Given the description of an element on the screen output the (x, y) to click on. 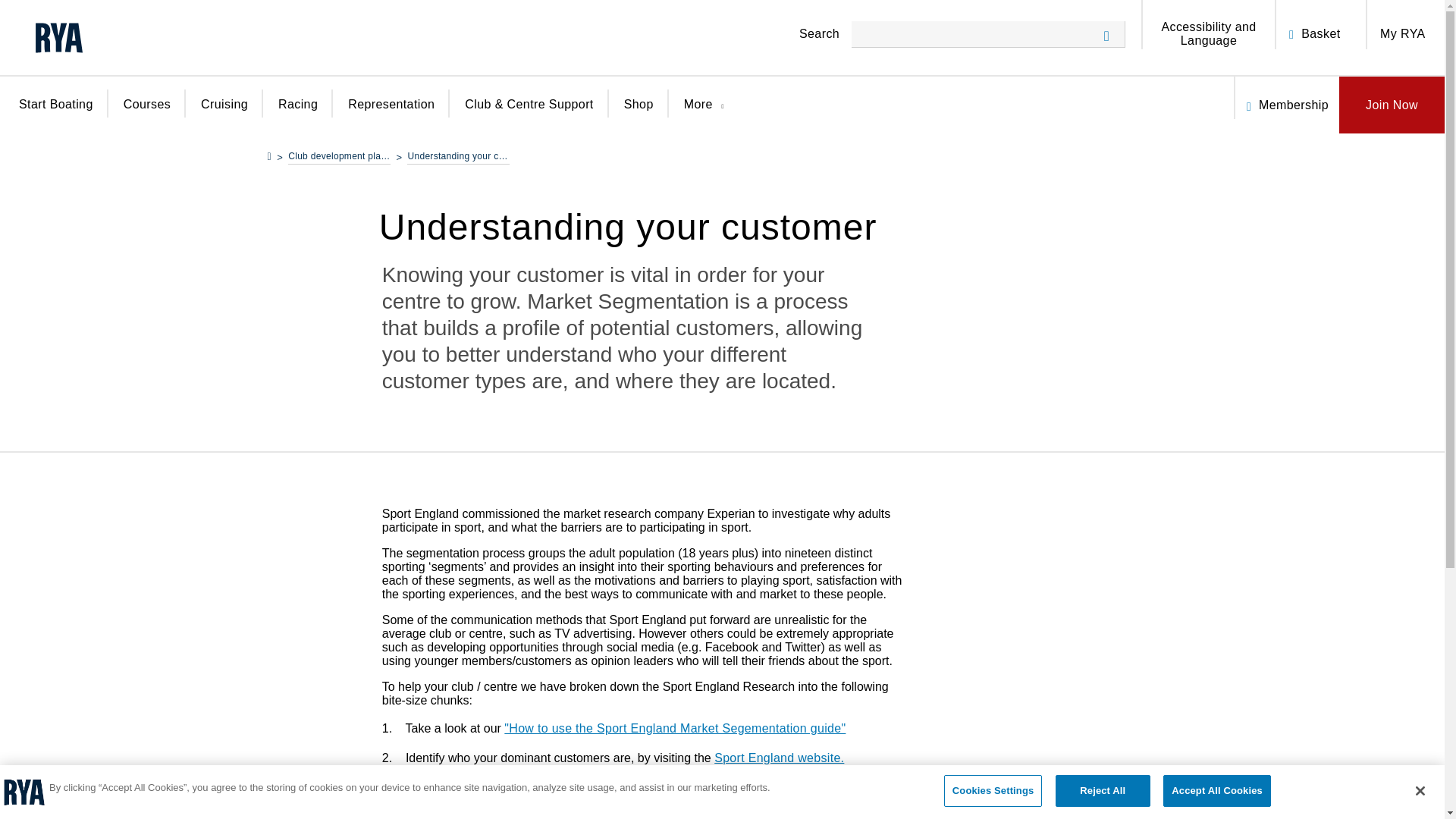
Cruising (223, 114)
basket-link (1294, 24)
Basket (1320, 33)
Club development plan insights (339, 157)
More (708, 115)
Racing (297, 114)
My RYA (1402, 33)
Understanding your customer (458, 157)
Courses (146, 114)
My RYA (1402, 33)
